Given the description of an element on the screen output the (x, y) to click on. 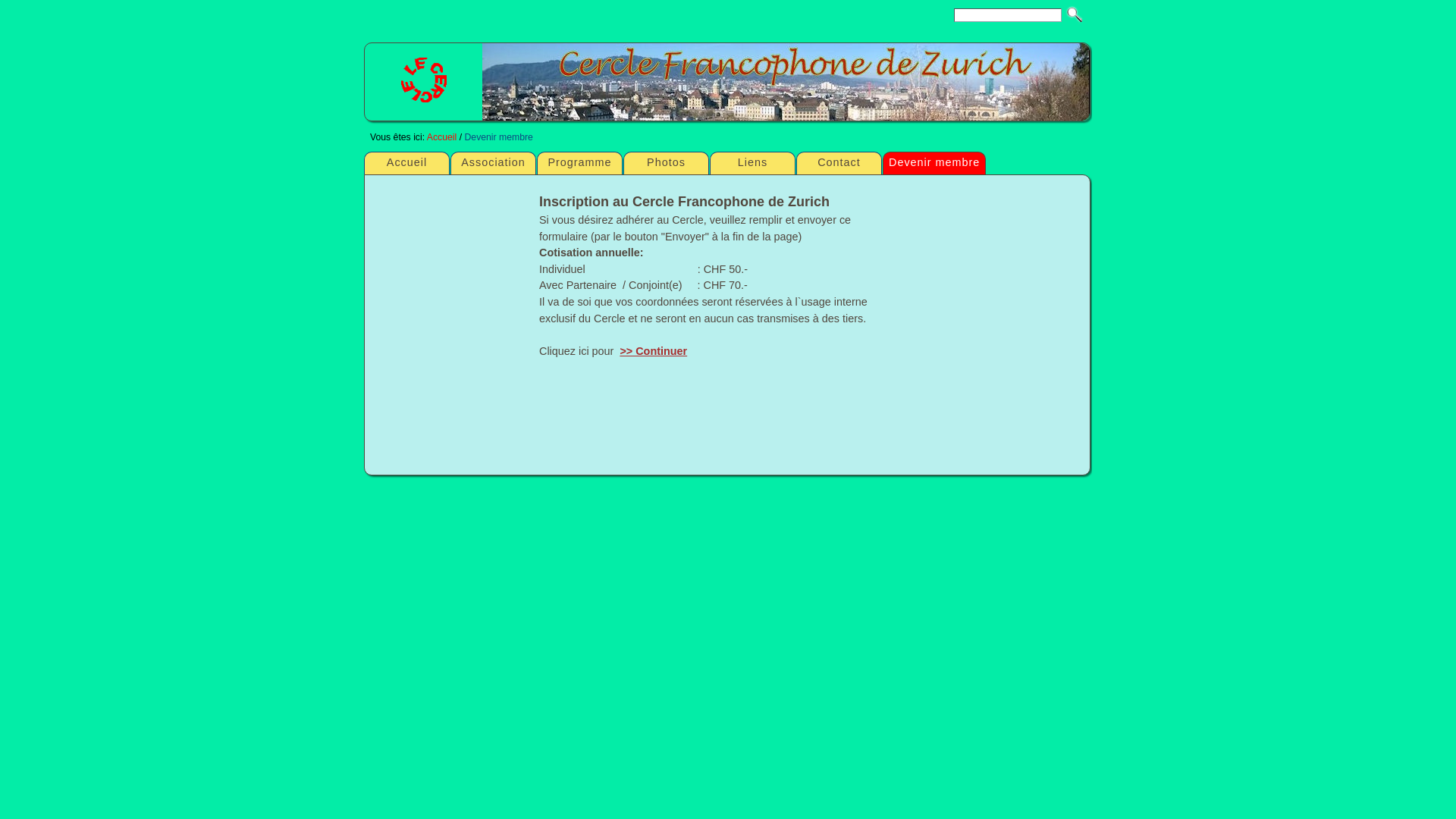
Photos Element type: text (666, 162)
Liens Element type: text (752, 162)
Contact Element type: text (838, 162)
>> Continuer Element type: text (653, 351)
Programme Element type: text (579, 162)
Accueil Element type: text (406, 162)
Accueil Element type: text (441, 136)
Devenir membre Element type: text (498, 136)
Association Element type: text (493, 162)
Devenir membre Element type: text (933, 162)
